Given the description of an element on the screen output the (x, y) to click on. 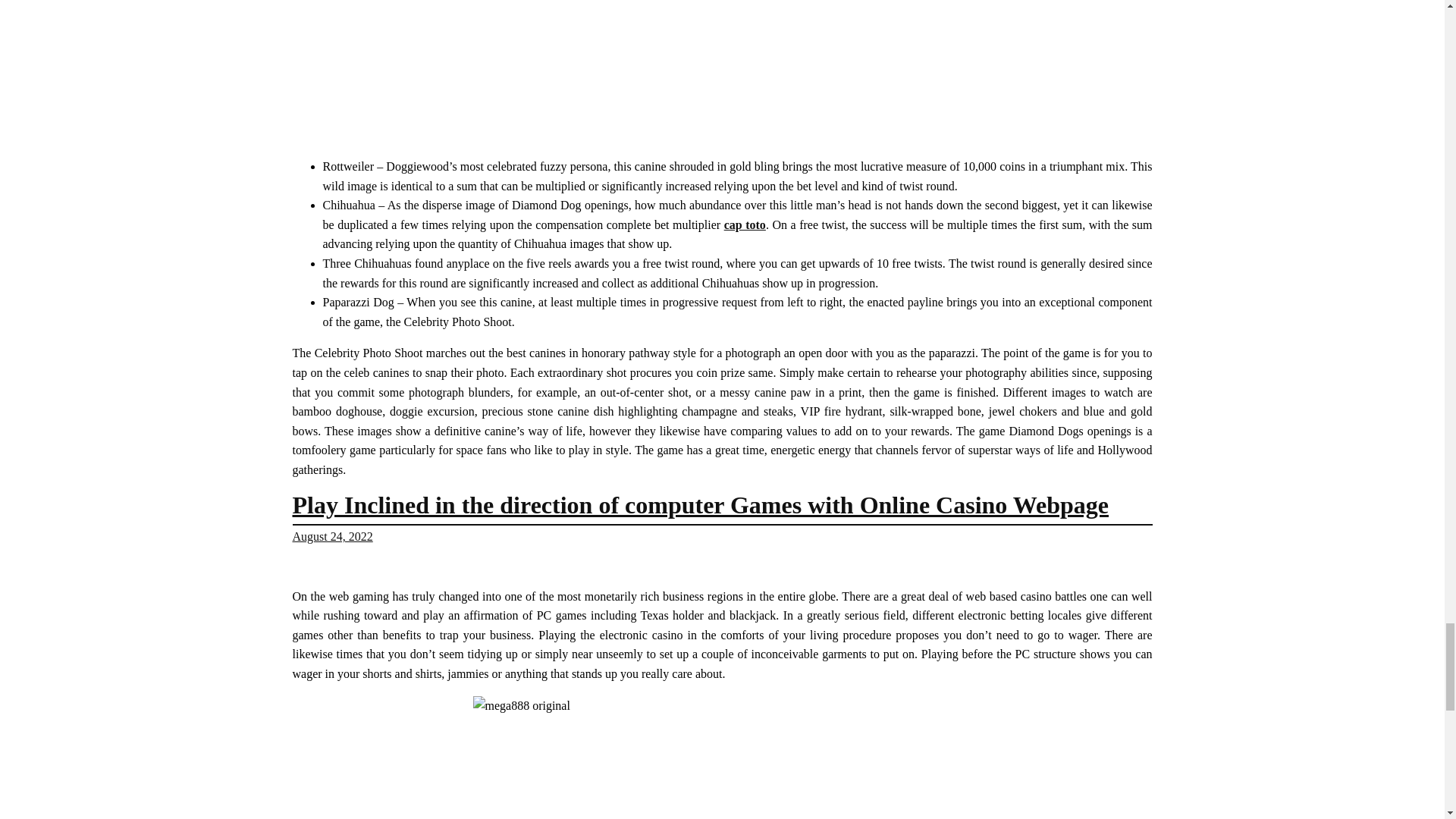
cap toto (744, 224)
August 24, 2022 (332, 535)
